Given the description of an element on the screen output the (x, y) to click on. 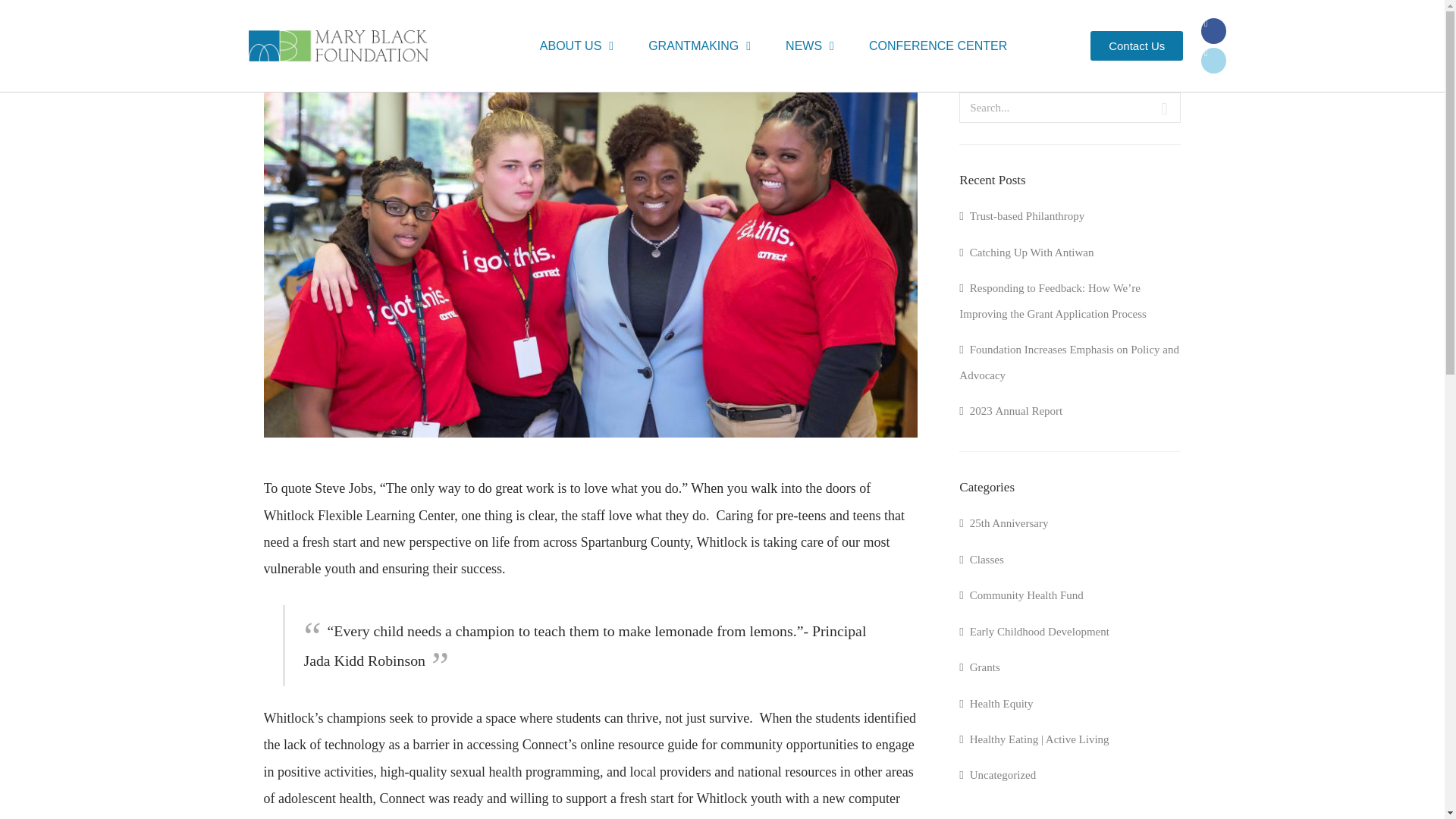
ABOUT US (576, 45)
Contact Us (1136, 45)
CONFERENCE CENTER (937, 45)
NEWS (809, 45)
GRANTMAKING (699, 45)
